Given the description of an element on the screen output the (x, y) to click on. 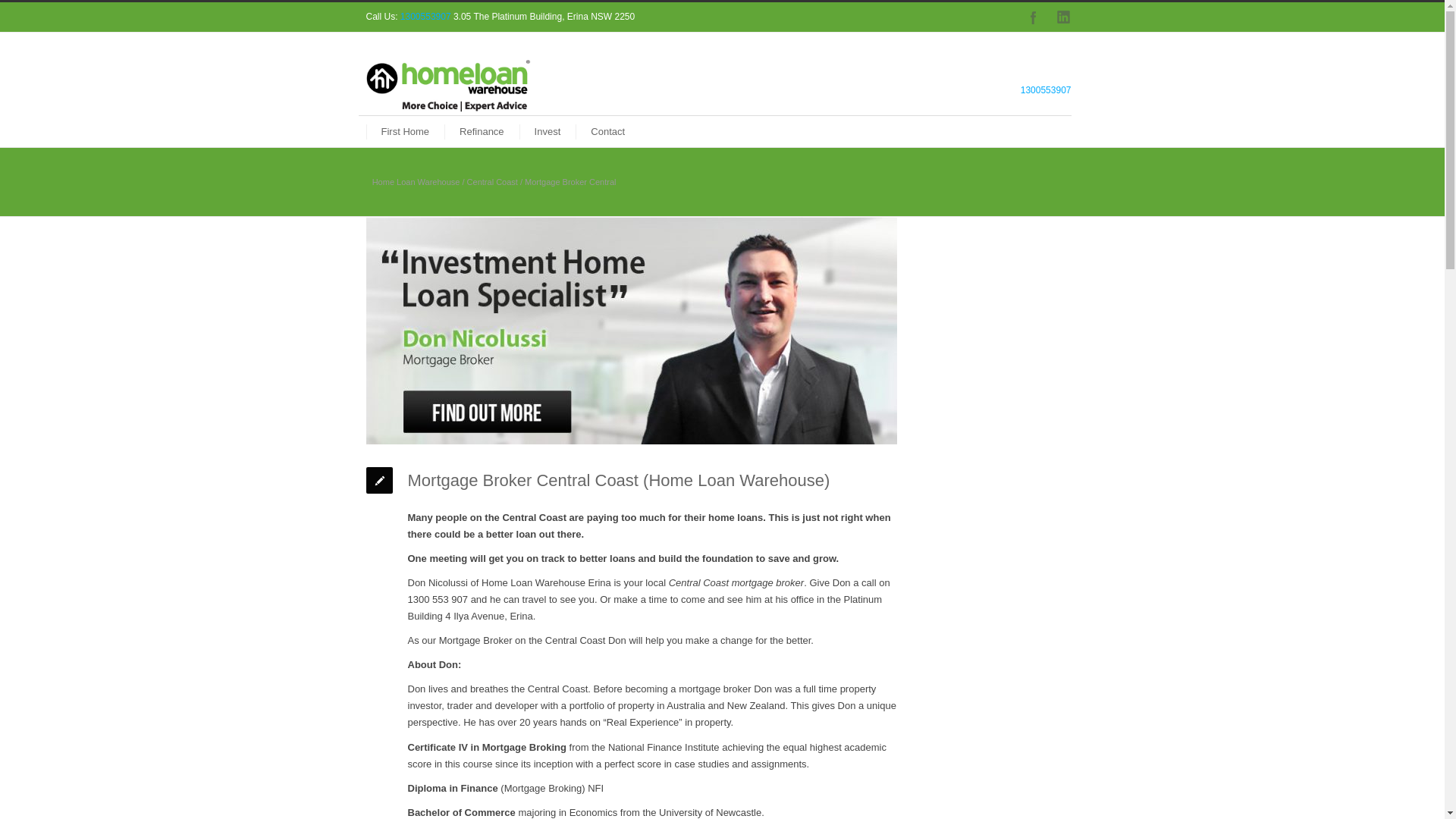
Facebook Element type: text (1032, 17)
Contact Element type: text (607, 131)
1300553907 Element type: text (426, 16)
LinkedIn Element type: text (1063, 17)
First Home Element type: text (404, 131)
Central Coast Element type: text (492, 181)
Mortgage Broker Central Coast (Home Loan Warehouse) Element type: hover (630, 330)
1300553907 Element type: text (1045, 89)
Invest Element type: text (547, 131)
Home Loan Warehouse Element type: text (416, 181)
Refinance Element type: text (481, 131)
